Given the description of an element on the screen output the (x, y) to click on. 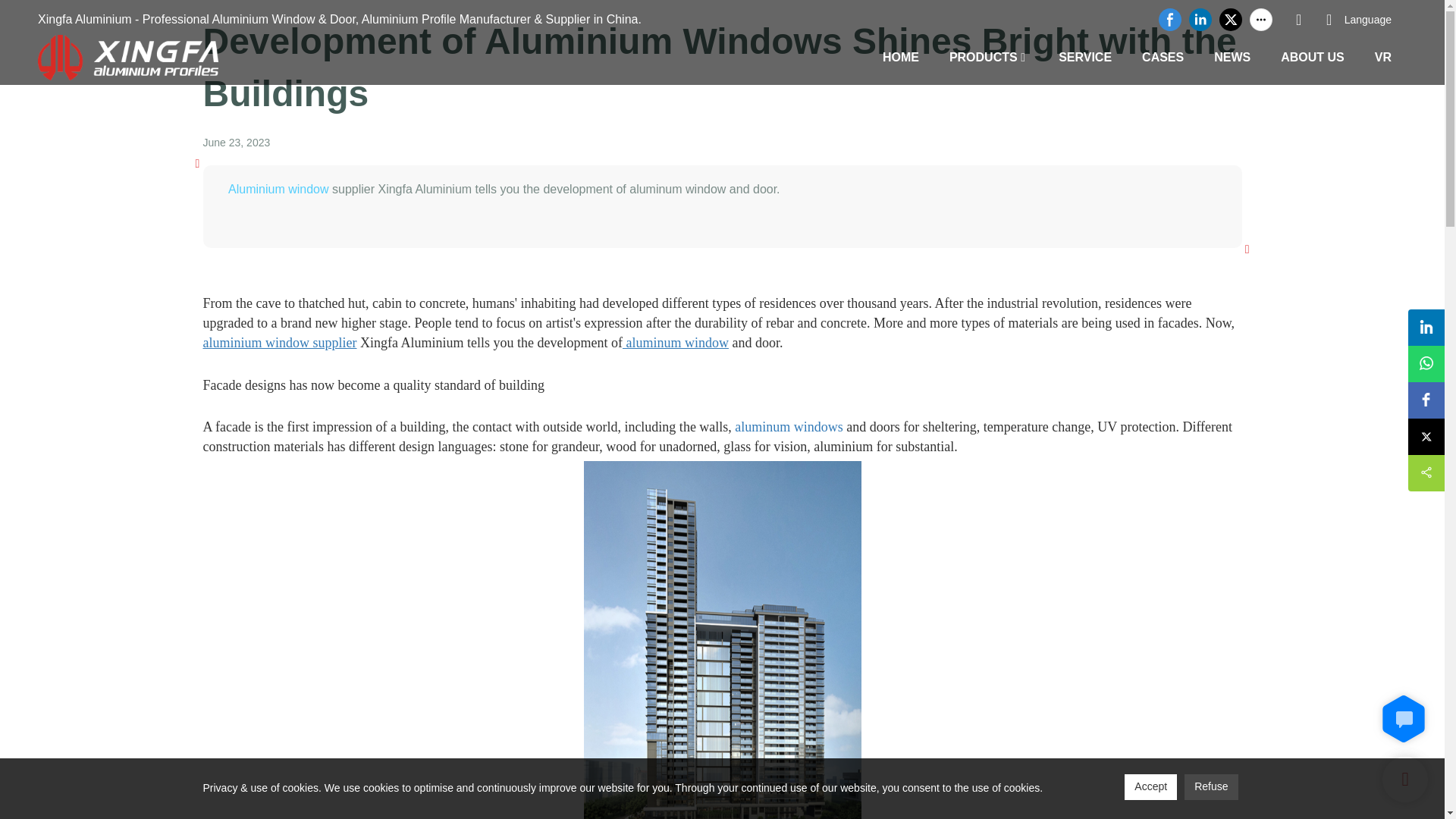
facebook (1169, 19)
Aluminium window (278, 188)
PRODUCTS (983, 56)
linkedin (1200, 19)
HOME (900, 56)
twitter (1230, 19)
